Given the description of an element on the screen output the (x, y) to click on. 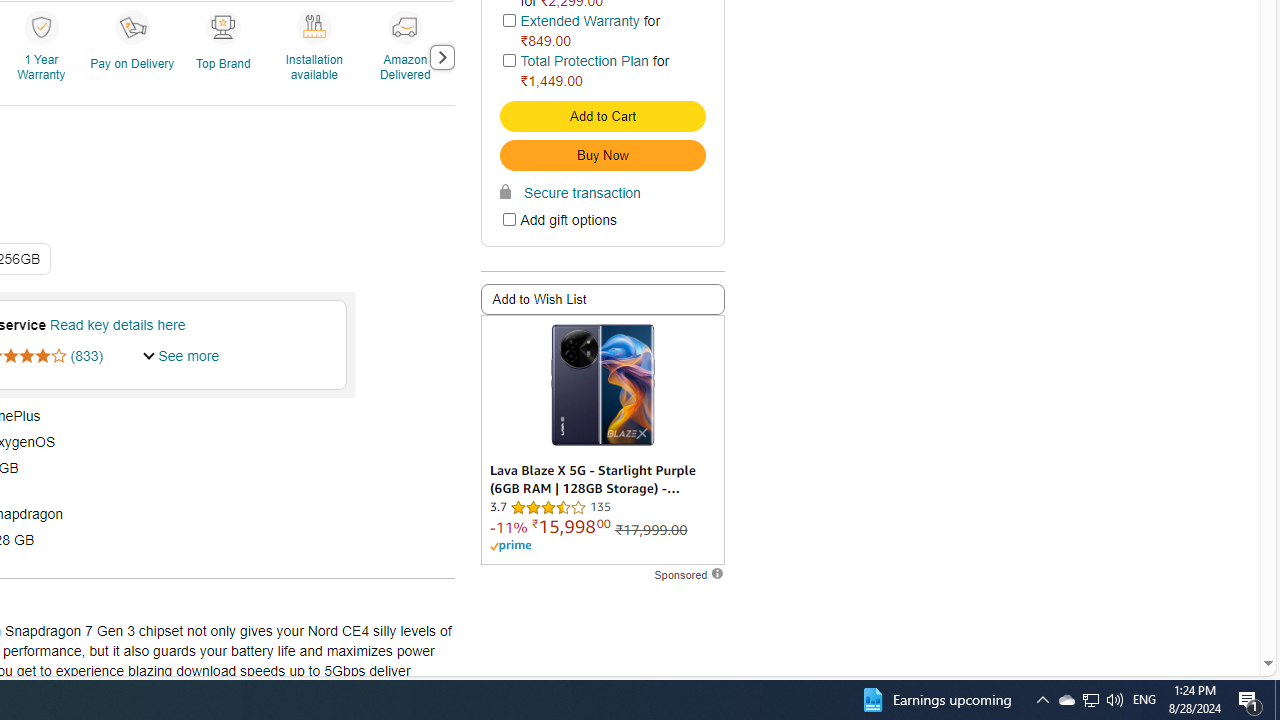
Prime (510, 546)
Pay on Delivery (134, 56)
Sponsored ad (602, 440)
See more (181, 355)
 Read key details here (115, 324)
Amazon Delivered (404, 26)
Next page (441, 57)
Buy Now (602, 155)
